Given the description of an element on the screen output the (x, y) to click on. 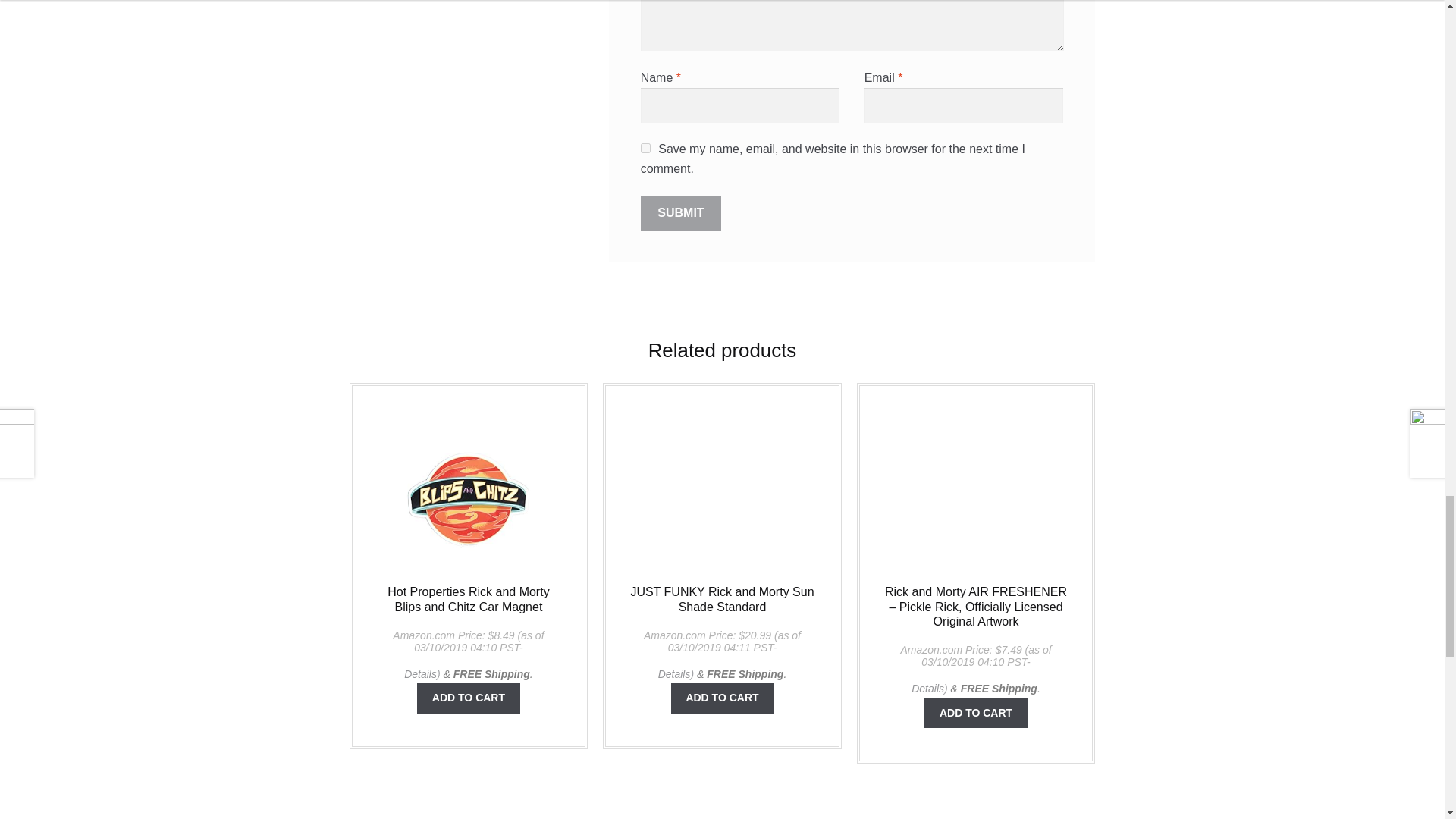
Submit (681, 213)
yes (645, 148)
